Given the description of an element on the screen output the (x, y) to click on. 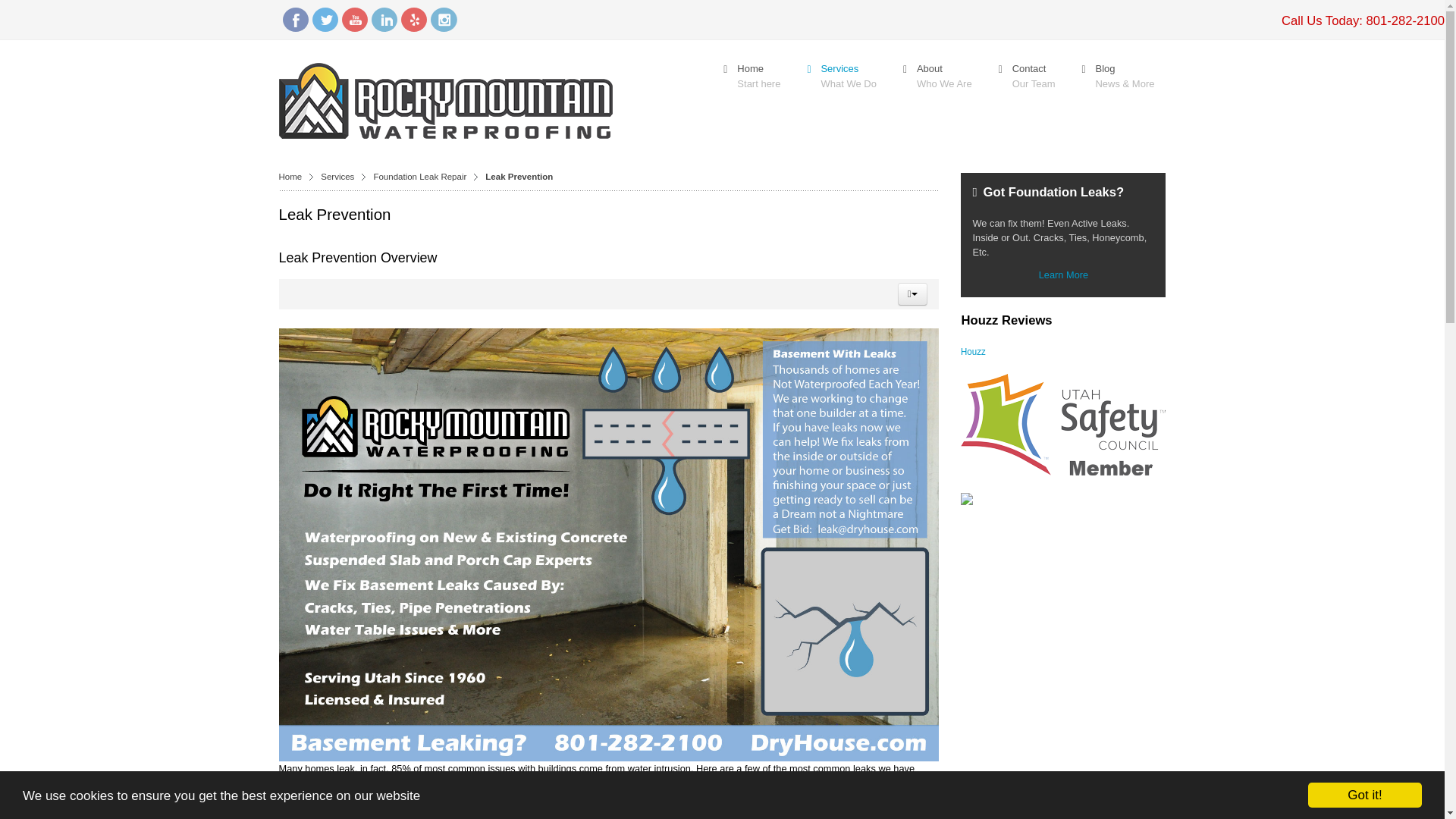
Facebook (294, 19)
Instagram (443, 19)
What We Do (839, 75)
YouTube (353, 19)
MySpace (413, 19)
Our Team (1025, 75)
Facebook (294, 19)
Who We Are (936, 75)
LinkedIn (384, 19)
Start here (749, 75)
MySpace (413, 19)
LinkedIn (384, 19)
Twitter (325, 19)
Twitter (325, 19)
YouTube (353, 19)
